Given the description of an element on the screen output the (x, y) to click on. 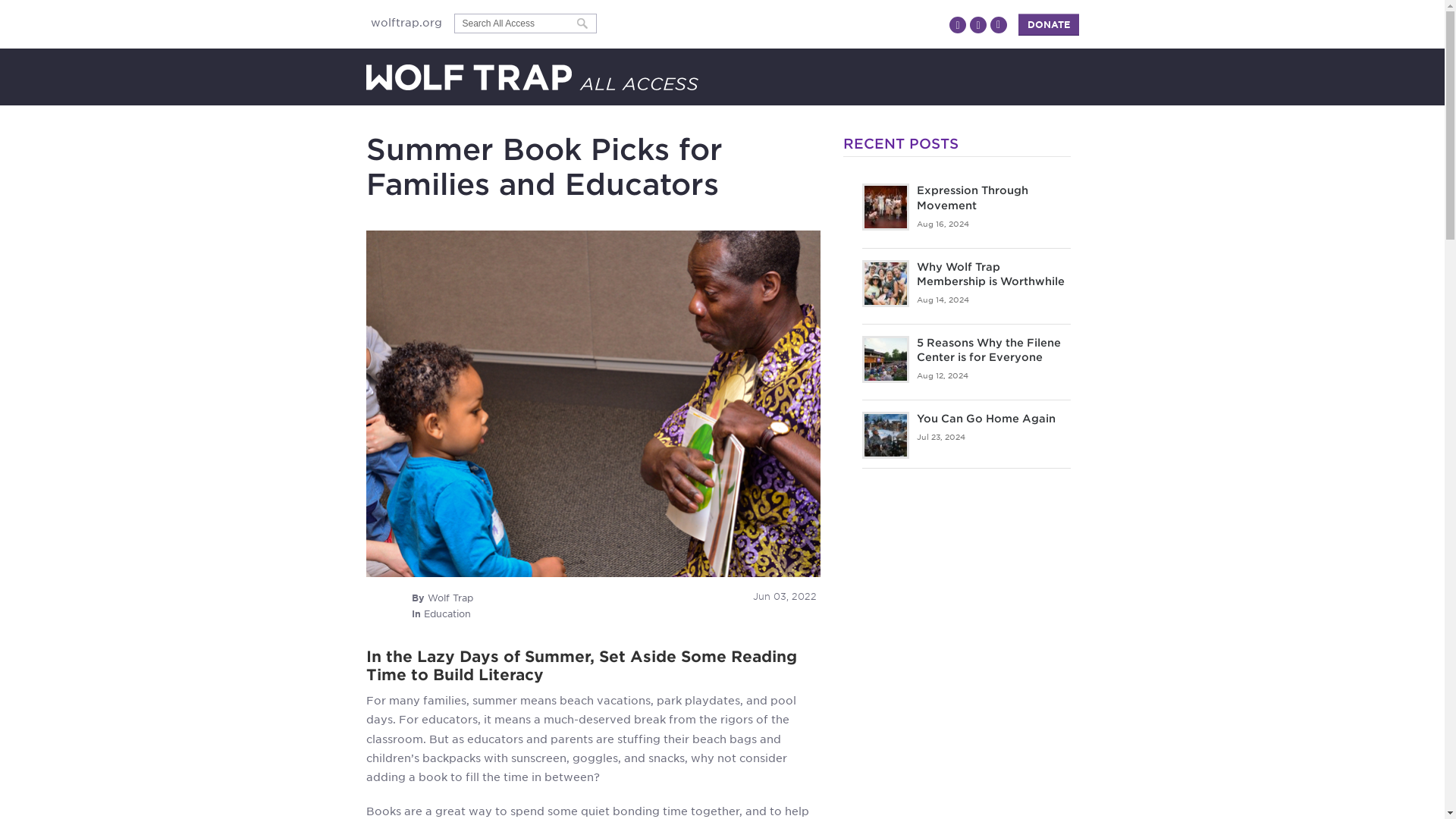
Posts by Wolf Trap (450, 597)
Expression Through Movement (971, 197)
Wolf Trap (450, 597)
5 Reasons Why the Filene Center is for Everyone (987, 349)
wolftrap.org (408, 22)
Why Wolf Trap Membership is Worthwhile (989, 274)
Education (446, 613)
DONATE (1047, 24)
